Given the description of an element on the screen output the (x, y) to click on. 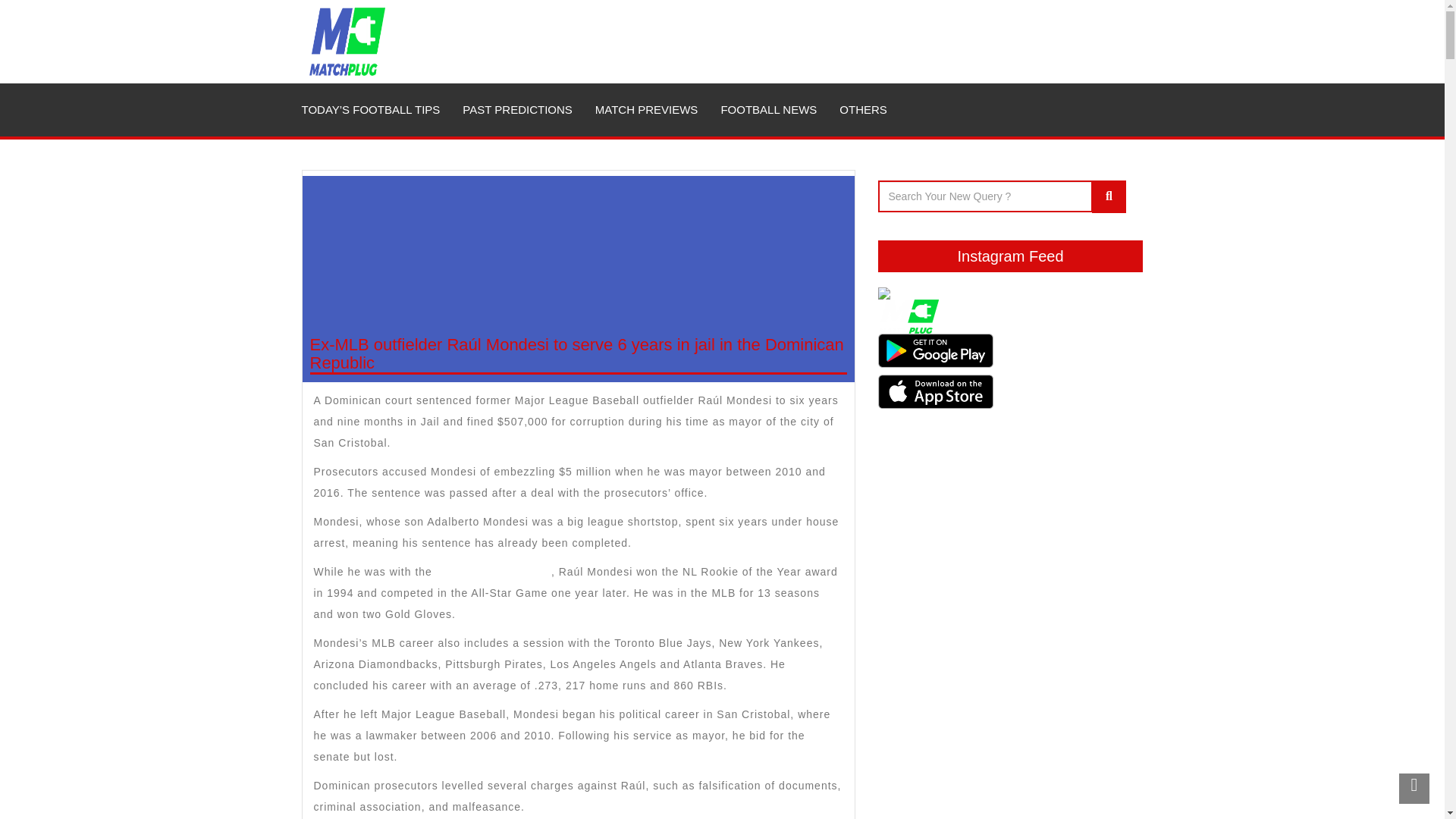
OTHERS (863, 109)
MATCH PREVIEWS (646, 109)
PAST PREDICTIONS (517, 109)
Los Angeles Dodgers (491, 571)
FOOTBALL NEWS (768, 109)
